Given the description of an element on the screen output the (x, y) to click on. 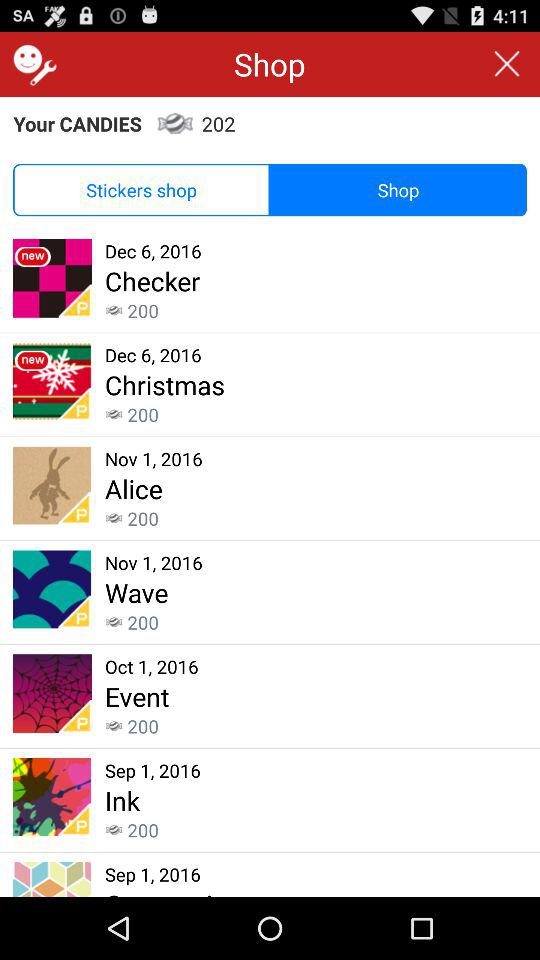
select icon above the 200 item (136, 592)
